Given the description of an element on the screen output the (x, y) to click on. 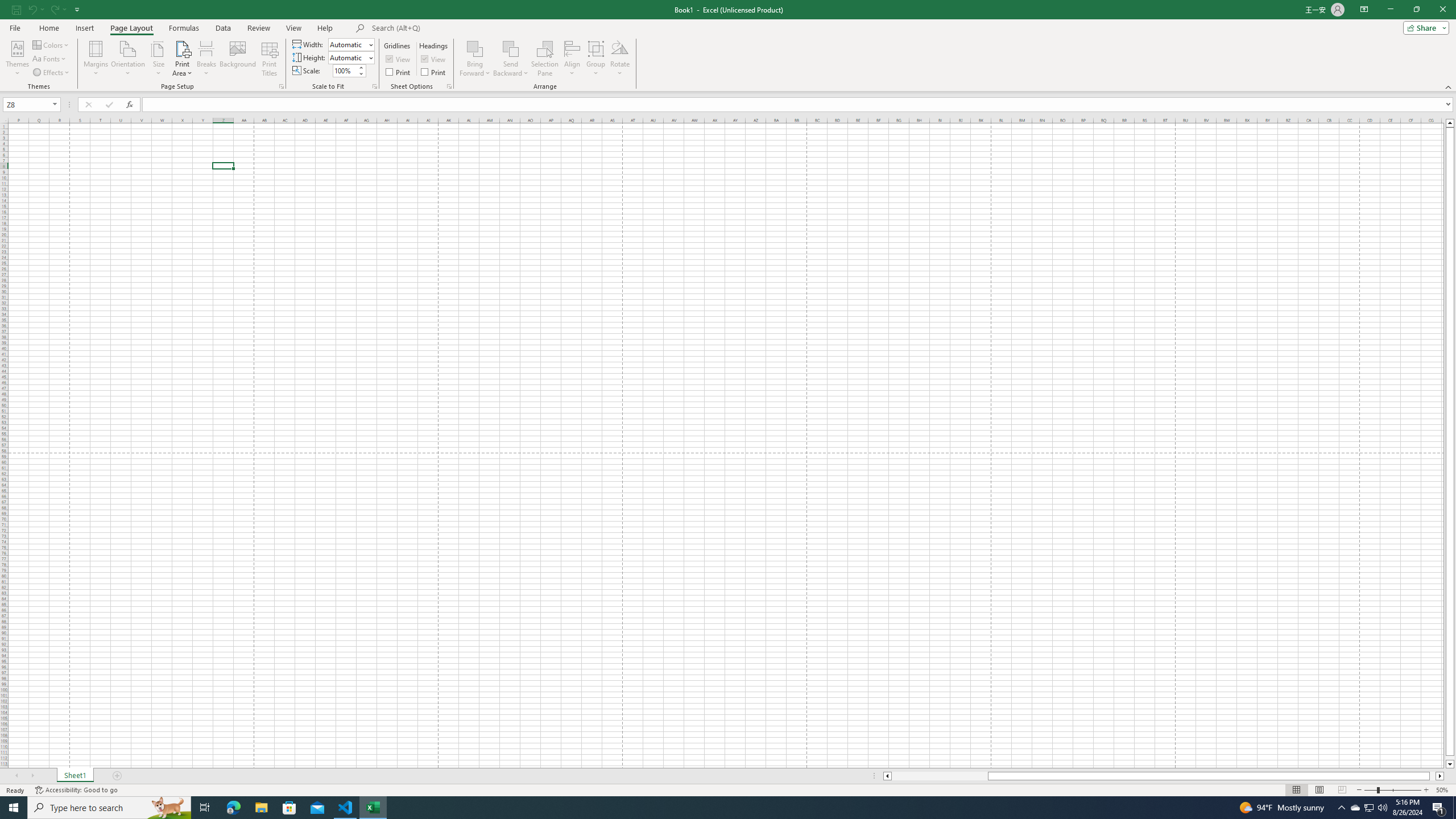
Themes (17, 58)
Scale (344, 70)
Microsoft search (450, 28)
Customize Quick Access Toolbar (77, 9)
Class: NetUIScrollBar (1163, 775)
Print Titles (269, 58)
Zoom In (1426, 790)
